Given the description of an element on the screen output the (x, y) to click on. 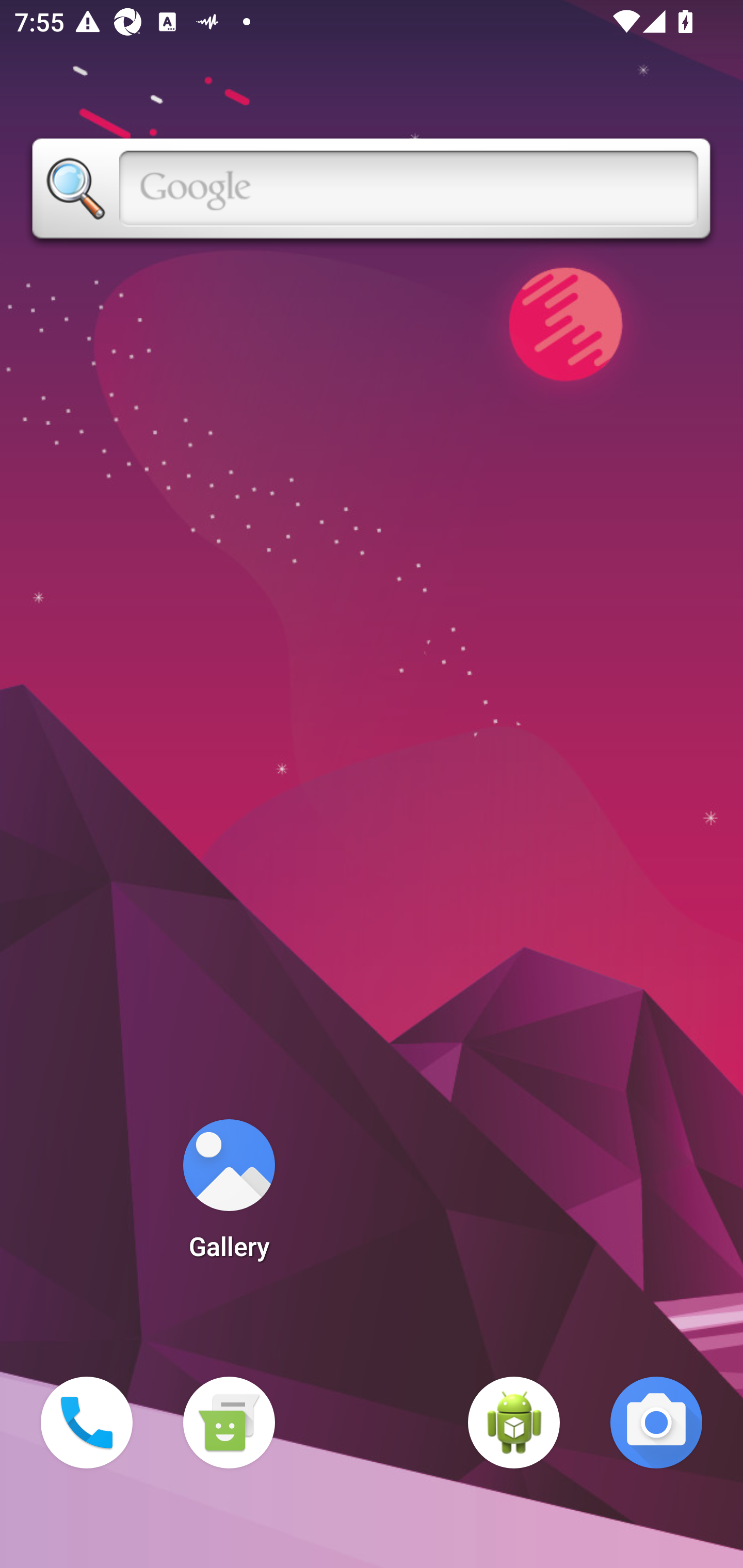
Gallery (228, 1195)
Phone (86, 1422)
Messaging (228, 1422)
WebView Browser Tester (513, 1422)
Camera (656, 1422)
